Given the description of an element on the screen output the (x, y) to click on. 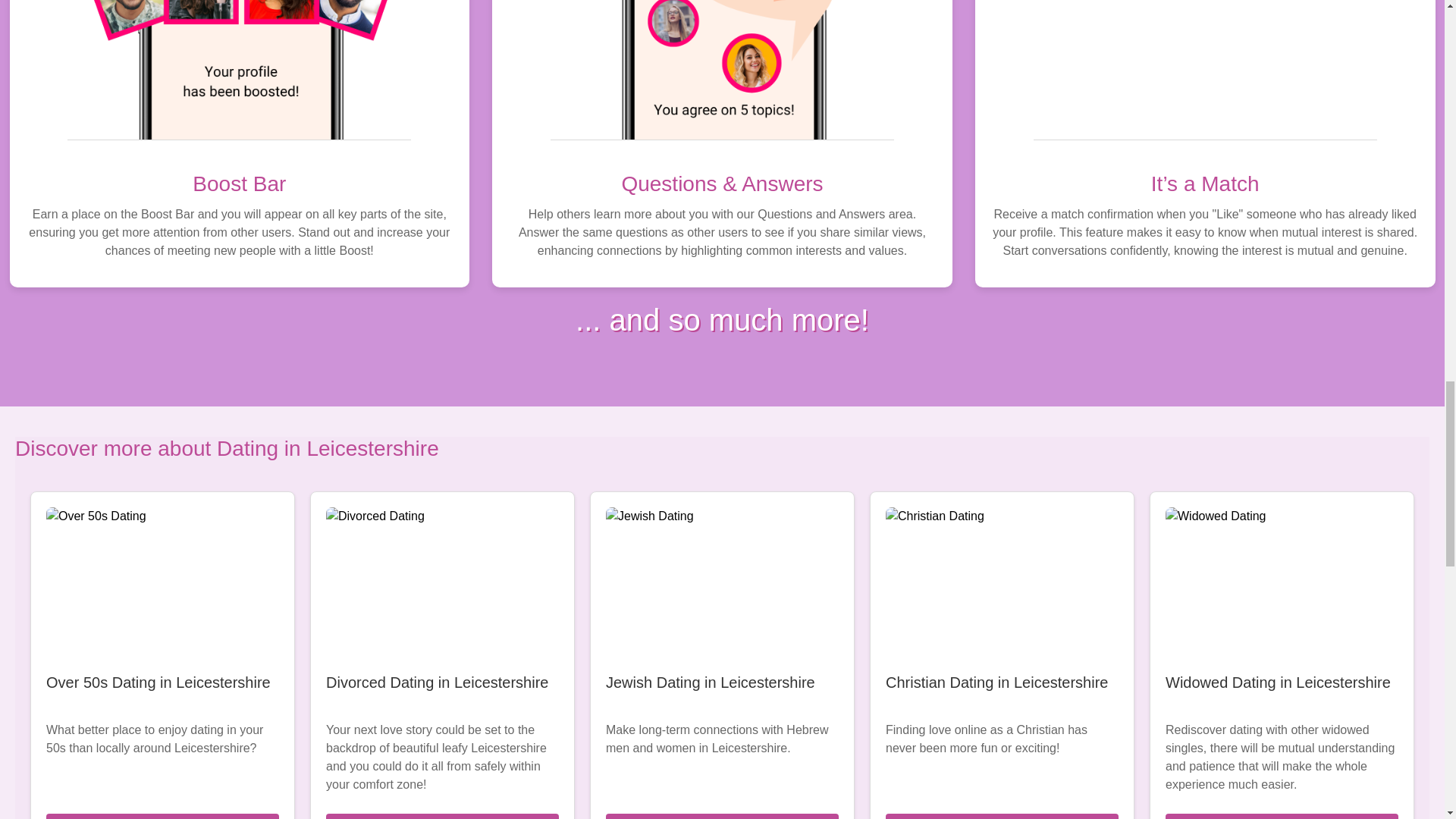
Read more (1281, 816)
Read more (1001, 816)
Read more (162, 816)
Read more (721, 816)
Read more (442, 816)
